Given the description of an element on the screen output the (x, y) to click on. 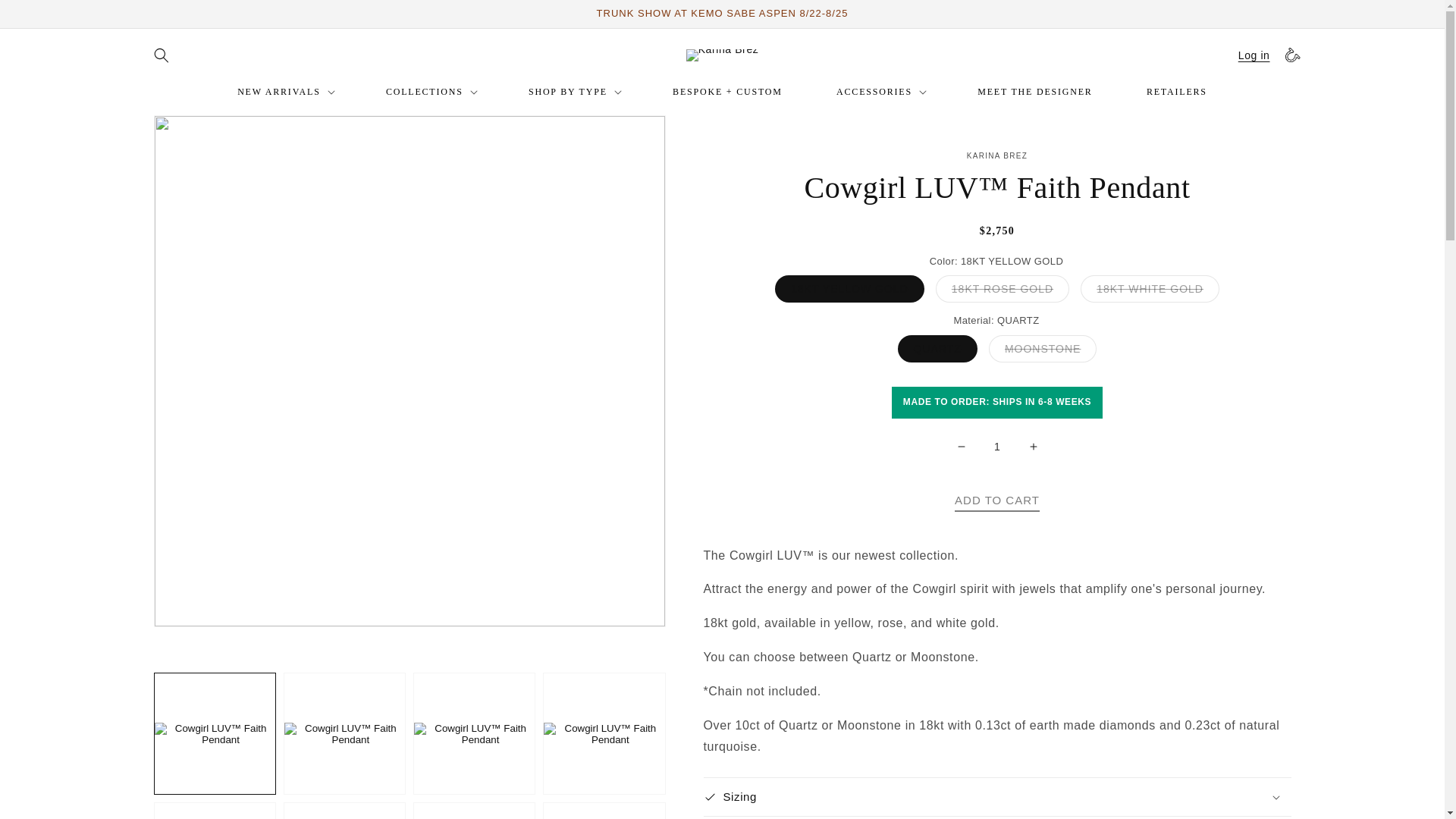
Skip to content (45, 17)
1 (997, 446)
